Given the description of an element on the screen output the (x, y) to click on. 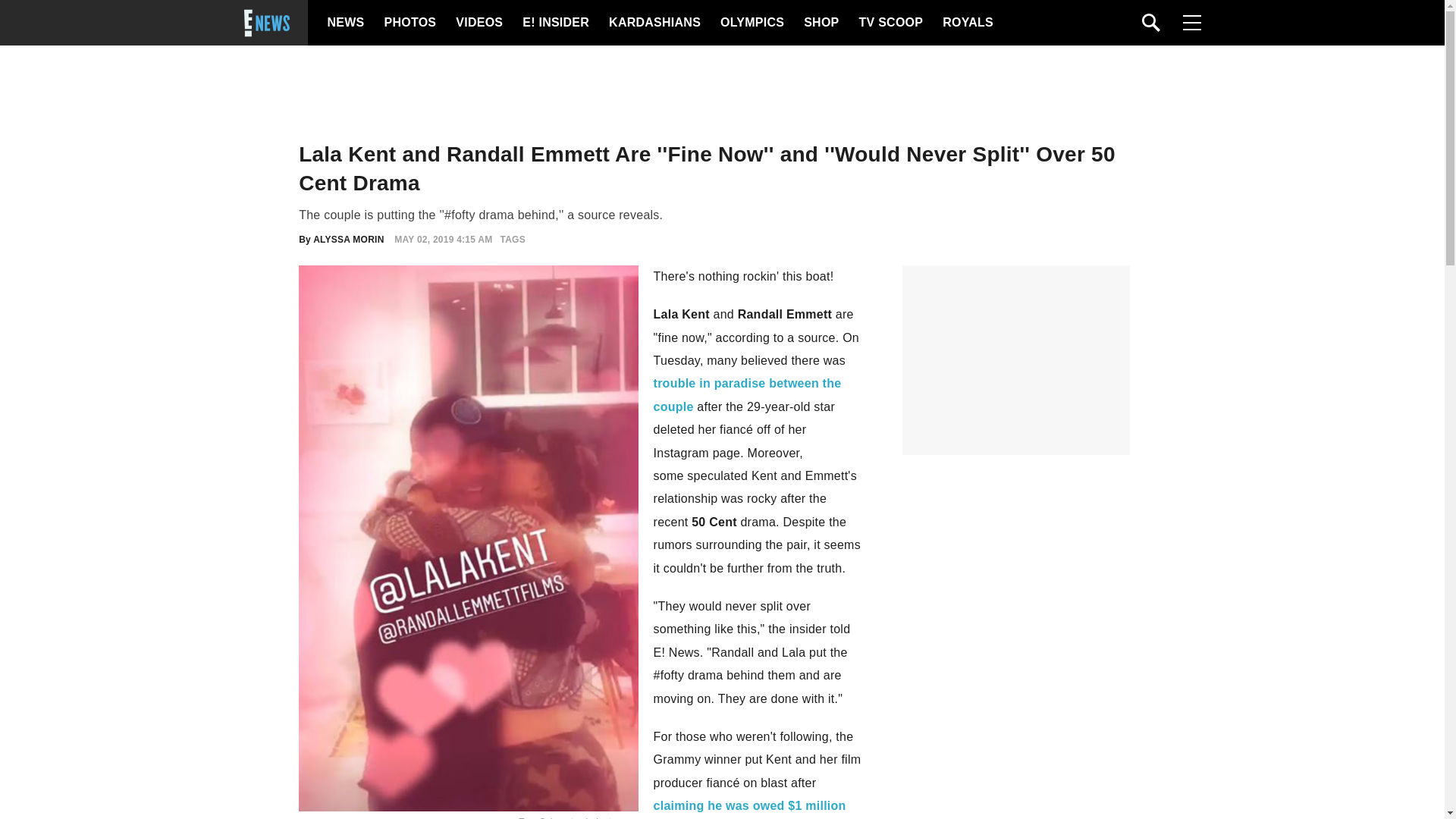
OLYMPICS (751, 22)
NEWS (345, 22)
ALYSSA MORIN (348, 239)
TV SCOOP (890, 22)
VIDEOS (478, 22)
PHOTOS (408, 22)
trouble in paradise between the couple (747, 394)
E! INSIDER (555, 22)
ROYALS (966, 22)
SHOP (820, 22)
